Given the description of an element on the screen output the (x, y) to click on. 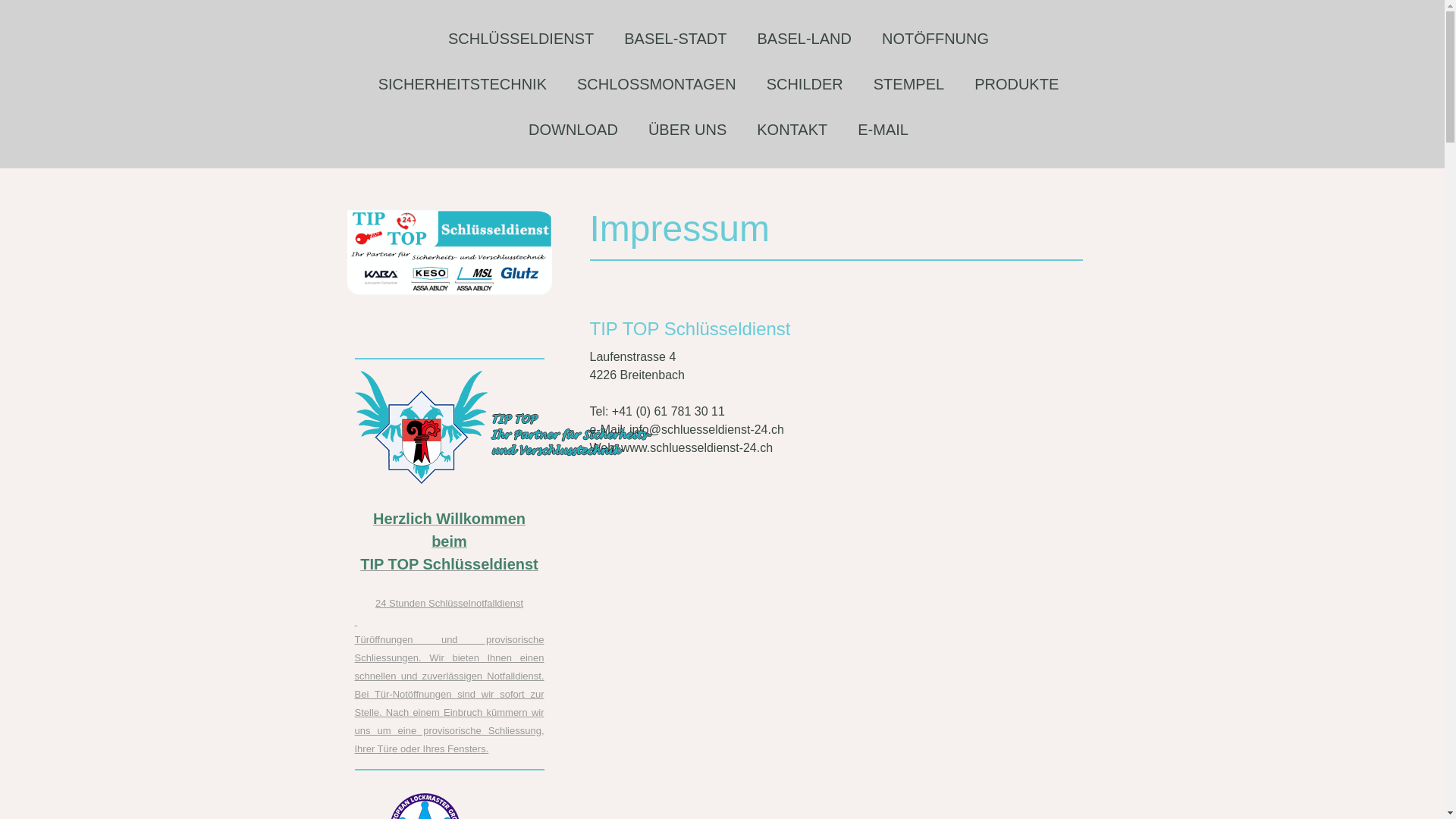
Herzlich Willkommen beim Element type: text (449, 531)
STEMPEL Element type: text (908, 84)
  Element type: text (355, 620)
BASEL-LAND Element type: text (803, 38)
SCHILDER Element type: text (804, 84)
DOWNLOAD Element type: text (573, 129)
E-MAIL Element type: text (882, 129)
SICHERHEITSTECHNIK Element type: text (462, 84)
KONTAKT Element type: text (791, 129)
PRODUKTE Element type: text (1016, 84)
SCHLOSSMONTAGEN Element type: text (656, 84)
BASEL-STADT Element type: text (674, 38)
